Given the description of an element on the screen output the (x, y) to click on. 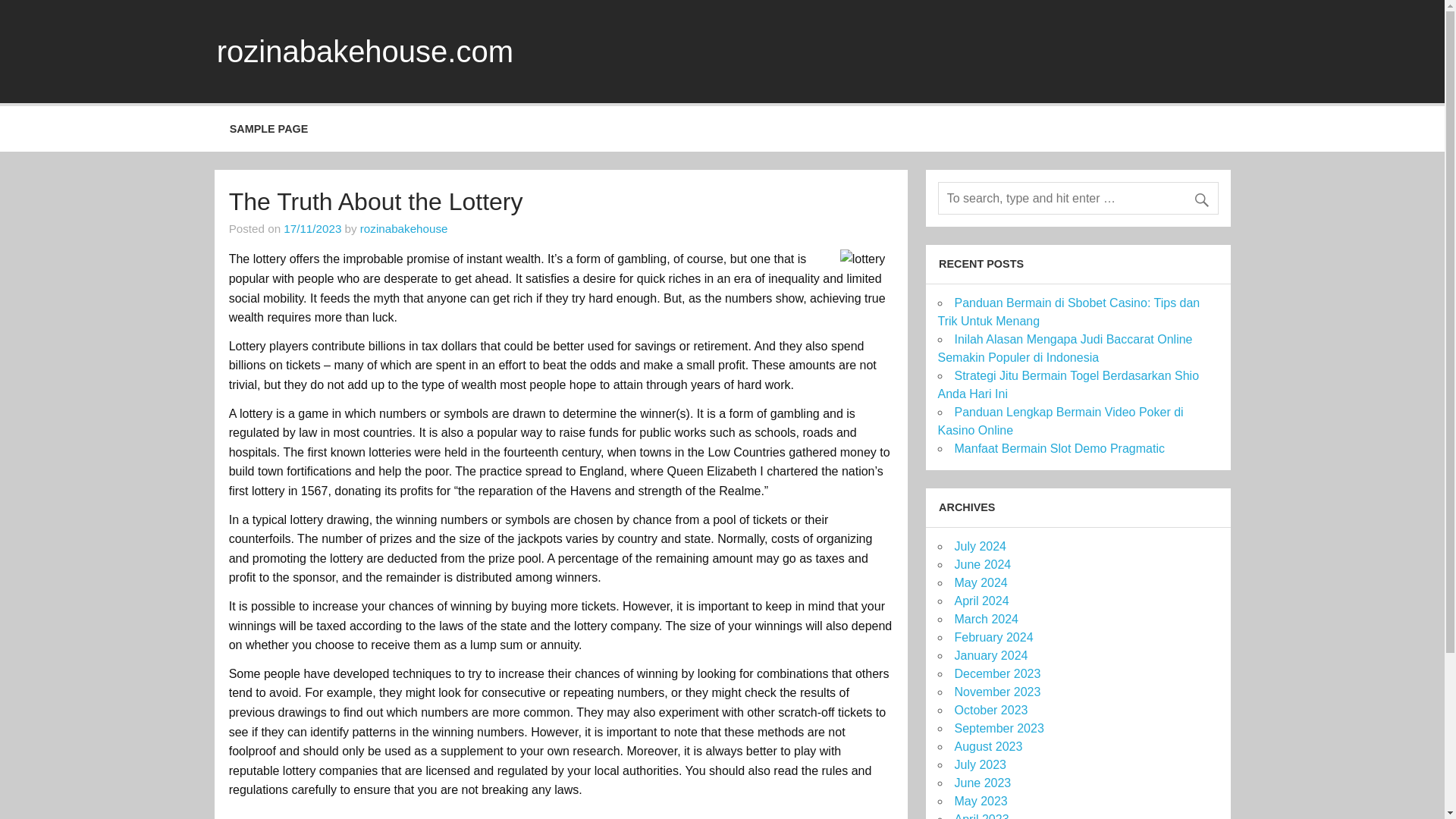
February 2024 (992, 636)
March 2024 (985, 618)
rozinabakehouse.com (364, 51)
June 2023 (981, 782)
9:59 AM (311, 228)
Panduan Lengkap Bermain Video Poker di Kasino Online (1059, 420)
Manfaat Bermain Slot Demo Pragmatic (1058, 448)
Panduan Bermain di Sbobet Casino: Tips dan Trik Untuk Menang (1068, 311)
June 2024 (981, 563)
December 2023 (997, 673)
October 2023 (990, 709)
Strategi Jitu Bermain Togel Berdasarkan Shio Anda Hari Ini (1067, 384)
January 2024 (990, 655)
September 2023 (998, 727)
